Given the description of an element on the screen output the (x, y) to click on. 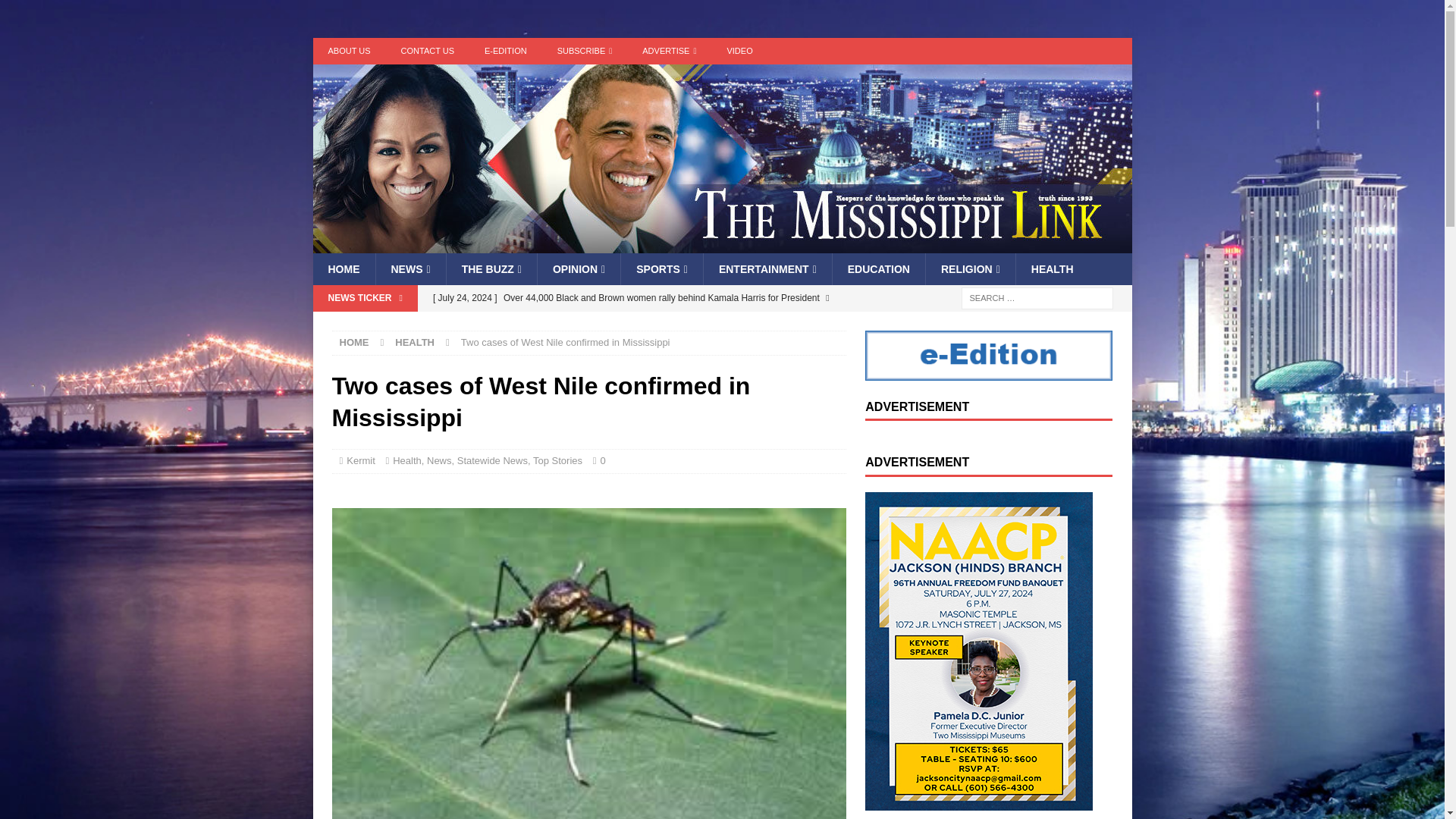
VIDEO (739, 50)
E-EDITION (504, 50)
ABOUT US (349, 50)
The Mississippi Link (722, 244)
SUBSCRIBE (584, 50)
ADVERTISE (669, 50)
CONTACT US (427, 50)
